Given the description of an element on the screen output the (x, y) to click on. 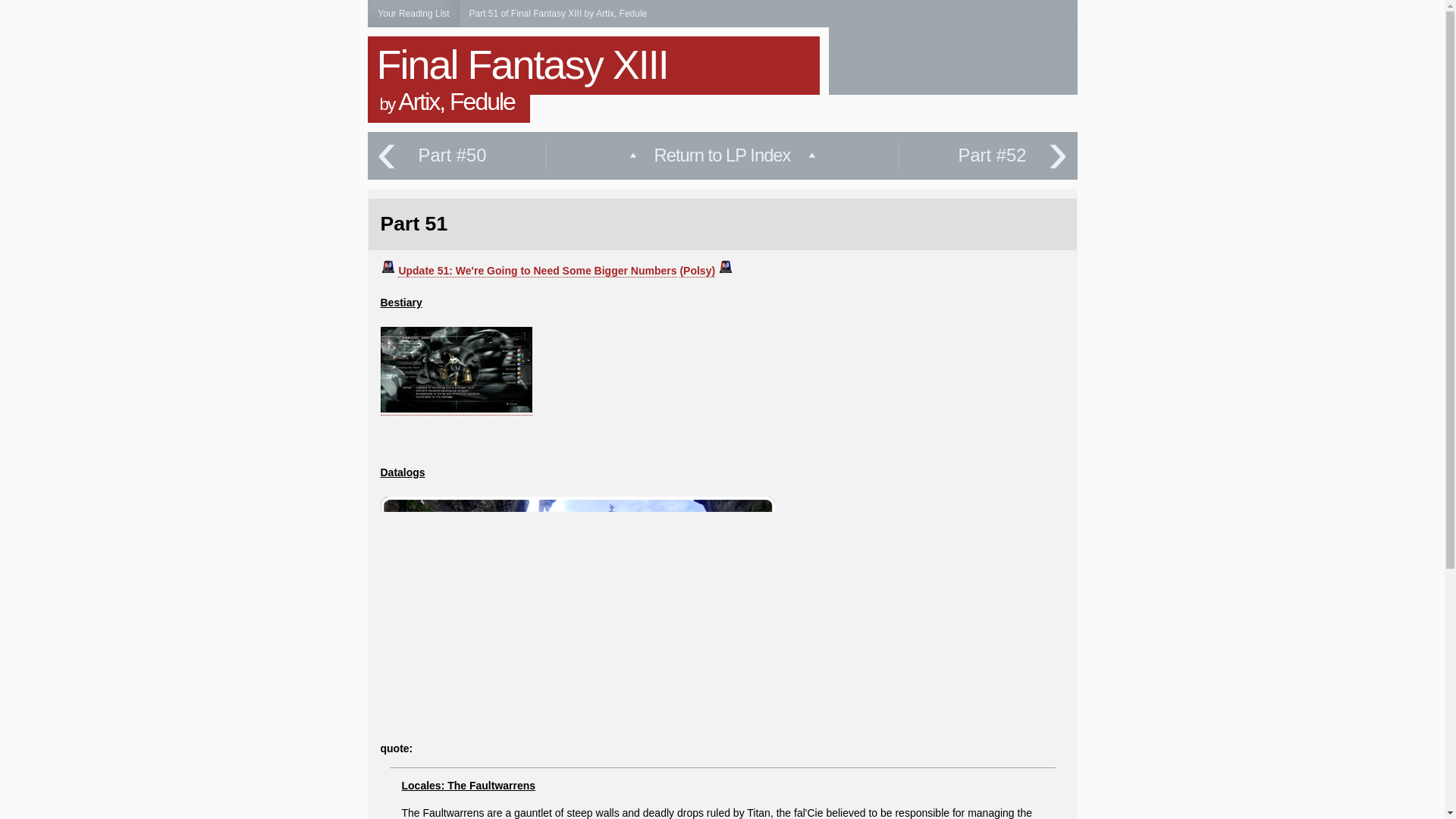
Artix, Fedule (456, 101)
Final Fantasy XIII (520, 63)
Part 51 of Final Fantasy XIII by Artix, Fedule (557, 13)
:siren: (388, 266)
Click to expand and view your full reading list (413, 13)
Update 51: We're Going to Need Some Bigger Numbers (537, 270)
